Given the description of an element on the screen output the (x, y) to click on. 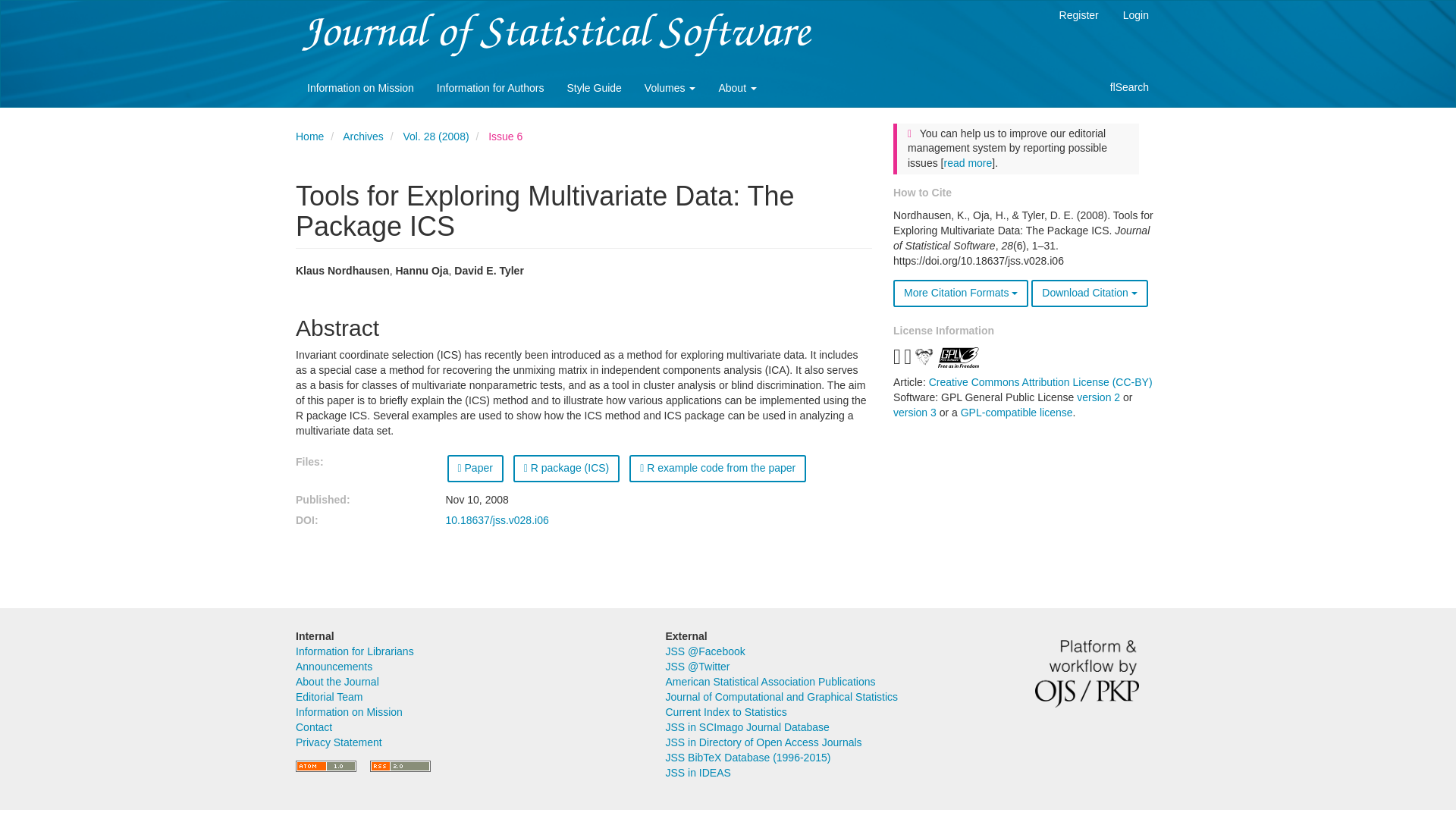
Register (1078, 15)
More Citation Formats (960, 293)
Search (1129, 87)
Information for Authors (490, 87)
Information on Mission (360, 87)
read more (967, 162)
Volumes (670, 87)
About (736, 87)
R example code from the paper (717, 468)
Paper (474, 468)
